Given the description of an element on the screen output the (x, y) to click on. 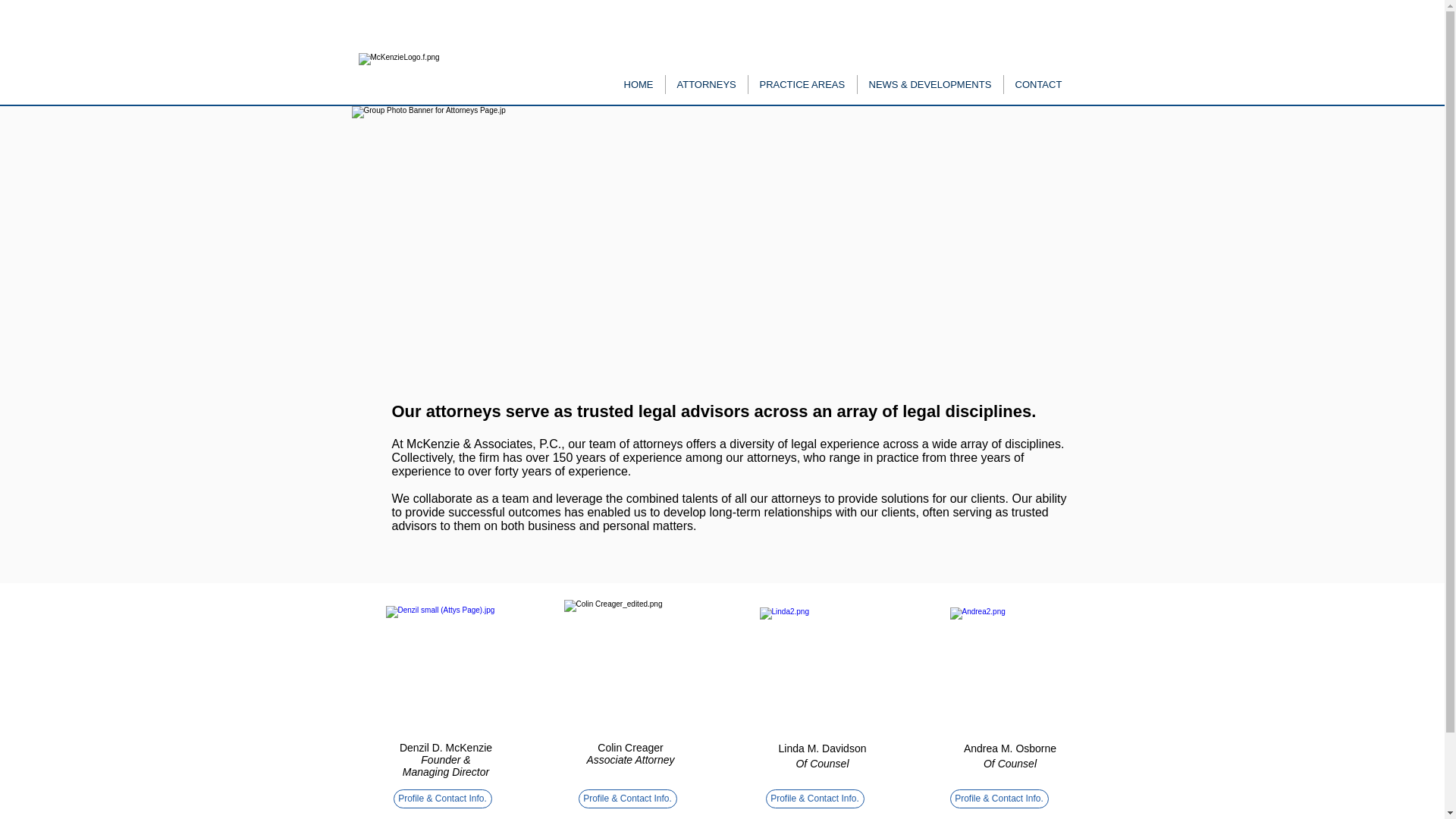
Andrea M. Osborne (1010, 748)
Colin Creager (629, 747)
Colin Creager.jpg (627, 666)
HOME (638, 84)
CONTACT (1038, 84)
Linda M. Davidson (822, 748)
Denzil D. McKenzie (445, 747)
PRACTICE AREAS (802, 84)
ATTORNEYS (704, 84)
